Given the description of an element on the screen output the (x, y) to click on. 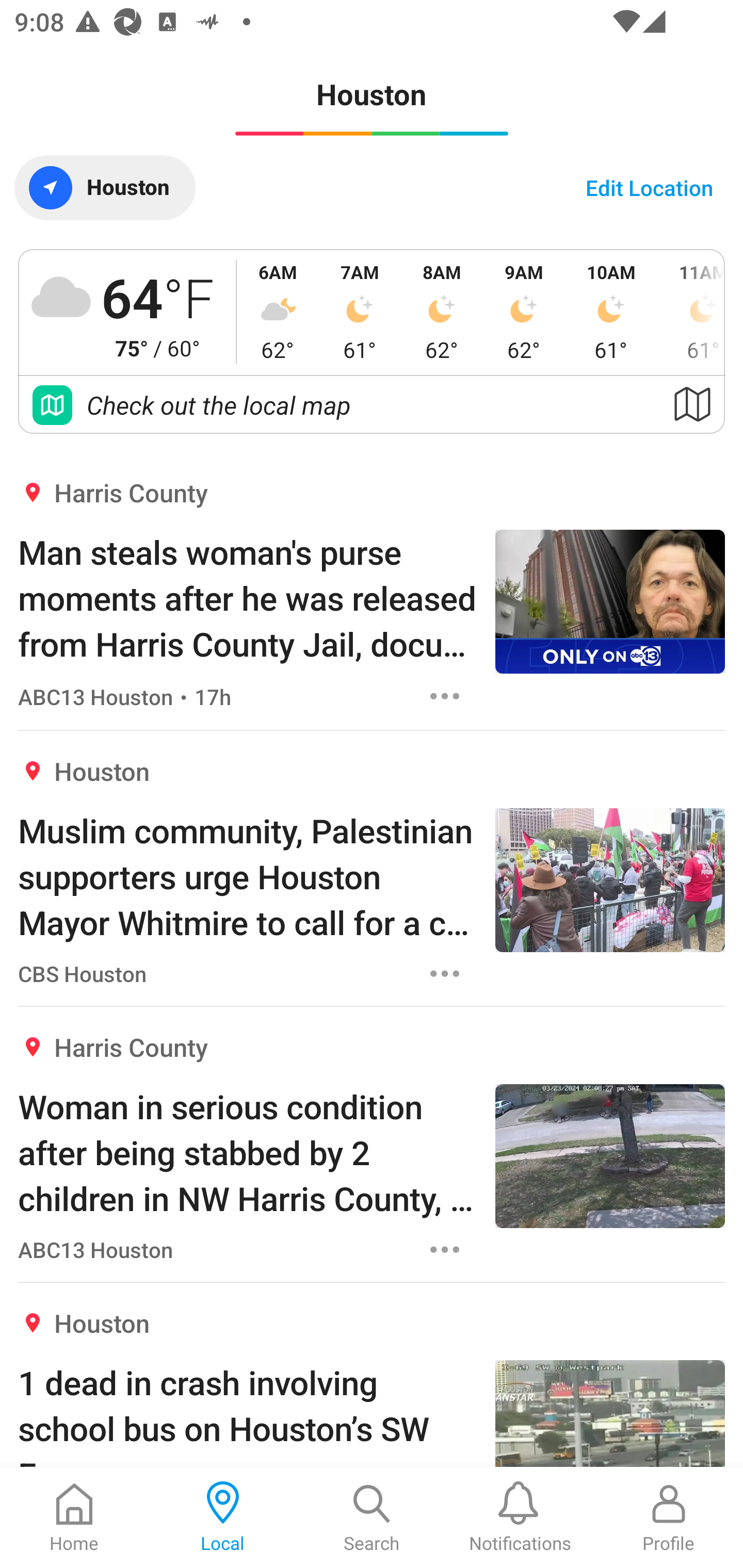
Houston (104, 187)
Edit Location (648, 187)
6AM 62° (277, 311)
7AM 61° (359, 311)
8AM 62° (441, 311)
9AM 62° (523, 311)
10AM 61° (610, 311)
11AM 61° (691, 311)
Check out the local map (371, 405)
Options (444, 696)
Options (444, 973)
Options (444, 1249)
Home (74, 1517)
Search (371, 1517)
Notifications (519, 1517)
Profile (668, 1517)
